Given the description of an element on the screen output the (x, y) to click on. 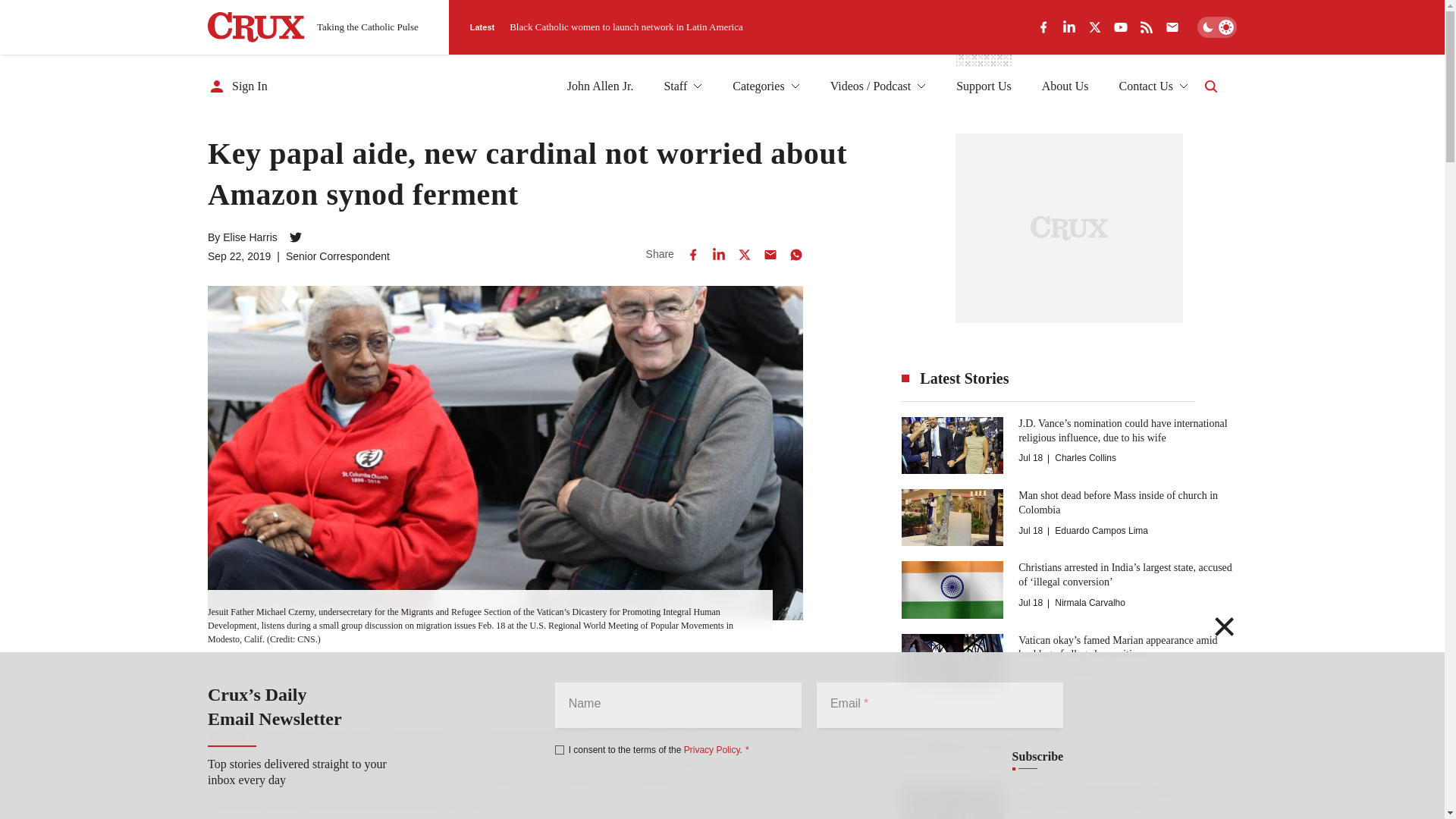
Categories (765, 85)
Privacy Policy (711, 749)
Staff (682, 85)
John Allen Jr. (600, 85)
Black Catholic women to launch network in Latin America (625, 27)
Subscribe (1037, 756)
Support Us (983, 85)
Sign In (237, 85)
true (559, 749)
